Given the description of an element on the screen output the (x, y) to click on. 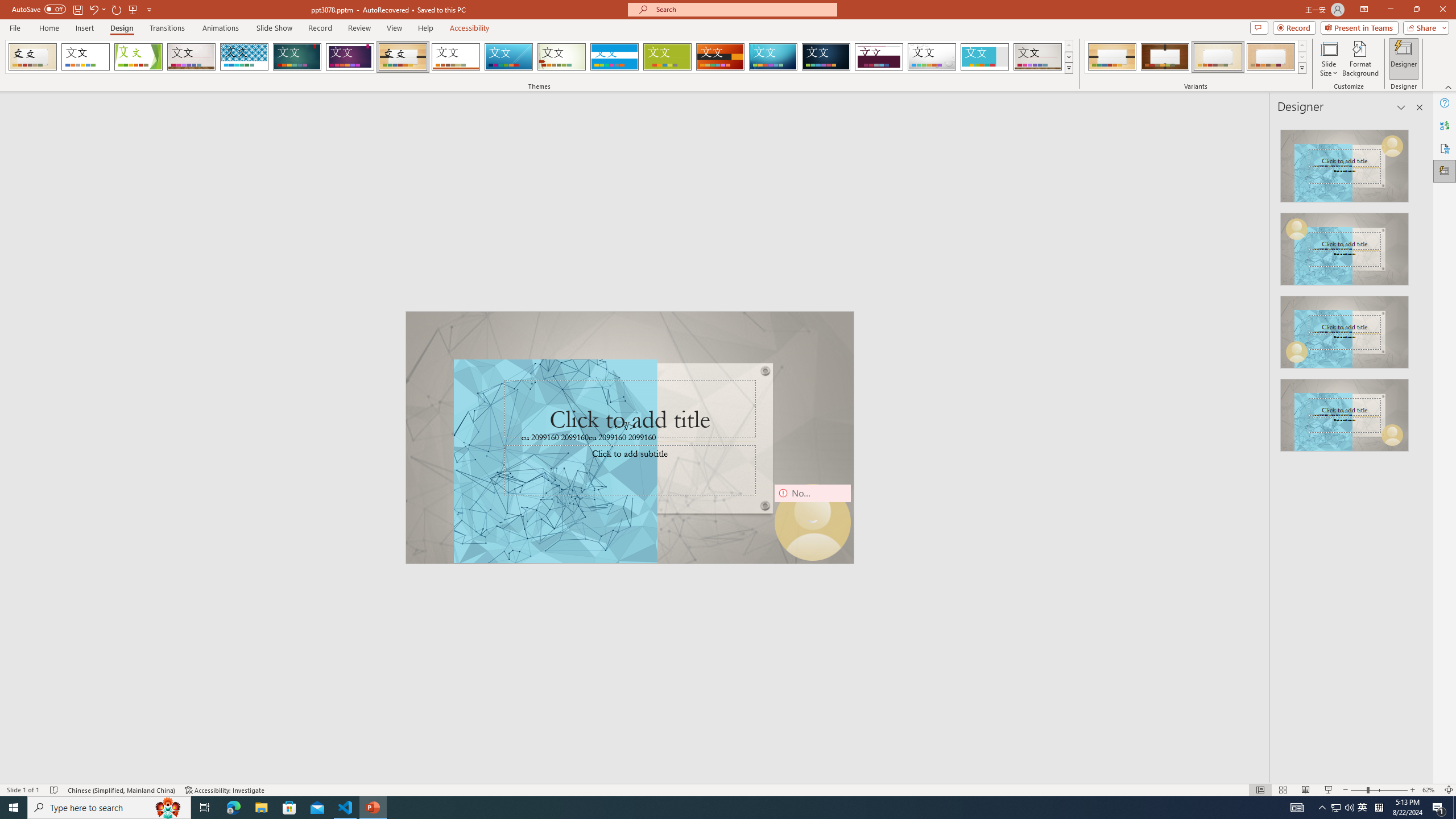
sample_500k.py (352, 183)
Editor actions (1383, 183)
Ports - 26 forwarded ports (662, 533)
Close (Ctrl+F4) (415, 183)
Debug Console (Ctrl+Shift+Y) (486, 533)
Search (Ctrl+Shift+F) (76, 265)
Split Editor Right (Ctrl+\) [Alt] Split Editor Down (1401, 182)
Launch Profile... (1350, 533)
Manage (76, 712)
